Given the description of an element on the screen output the (x, y) to click on. 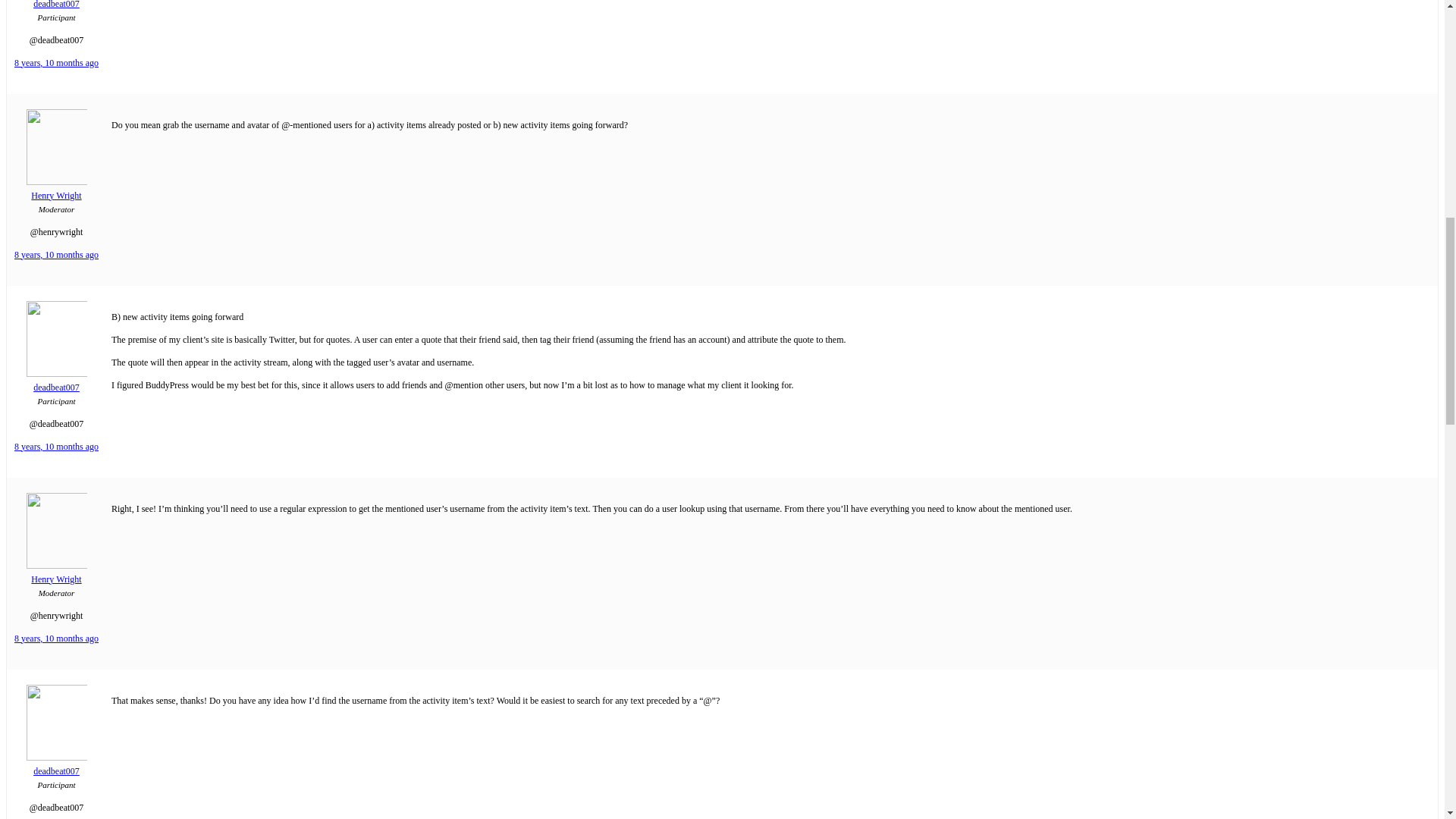
deadbeat007 (56, 765)
8 years, 10 months ago (56, 254)
Henry Wright (56, 573)
8 years, 10 months ago (56, 62)
deadbeat007 (56, 5)
Henry Wright (56, 189)
8 years, 10 months ago (56, 446)
deadbeat007 (56, 380)
8 years, 10 months ago (56, 638)
